Given the description of an element on the screen output the (x, y) to click on. 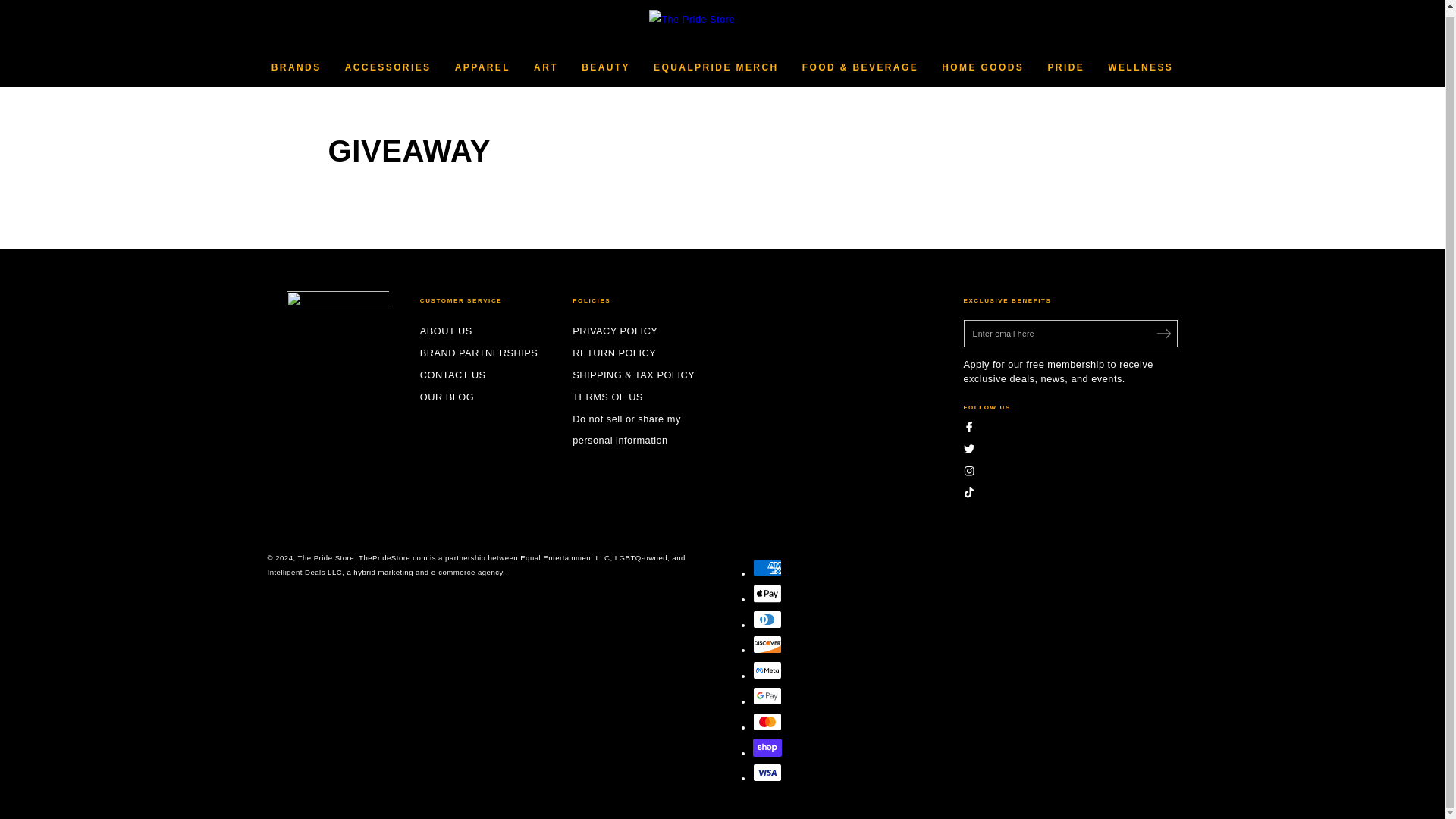
SKIP TO CONTENT (53, 8)
Discover (766, 644)
Mastercard (766, 721)
Shop Pay (766, 747)
American Express (766, 567)
Visa (766, 772)
Diners Club (766, 619)
Meta Pay (766, 669)
Google Pay (766, 696)
Apple Pay (766, 593)
